Given the description of an element on the screen output the (x, y) to click on. 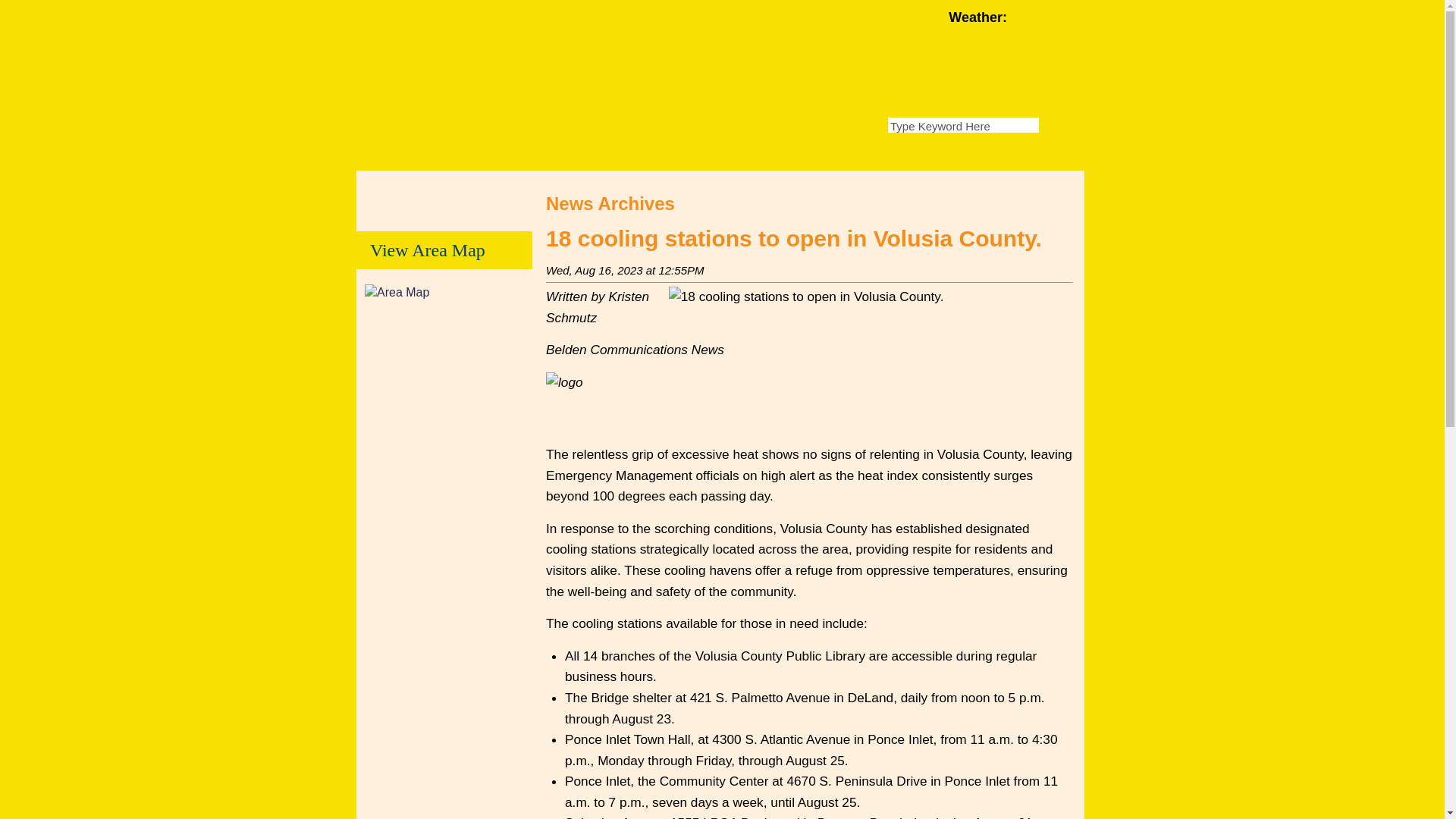
Click here to view the map (399, 291)
Type Keyword Here (963, 124)
